Given the description of an element on the screen output the (x, y) to click on. 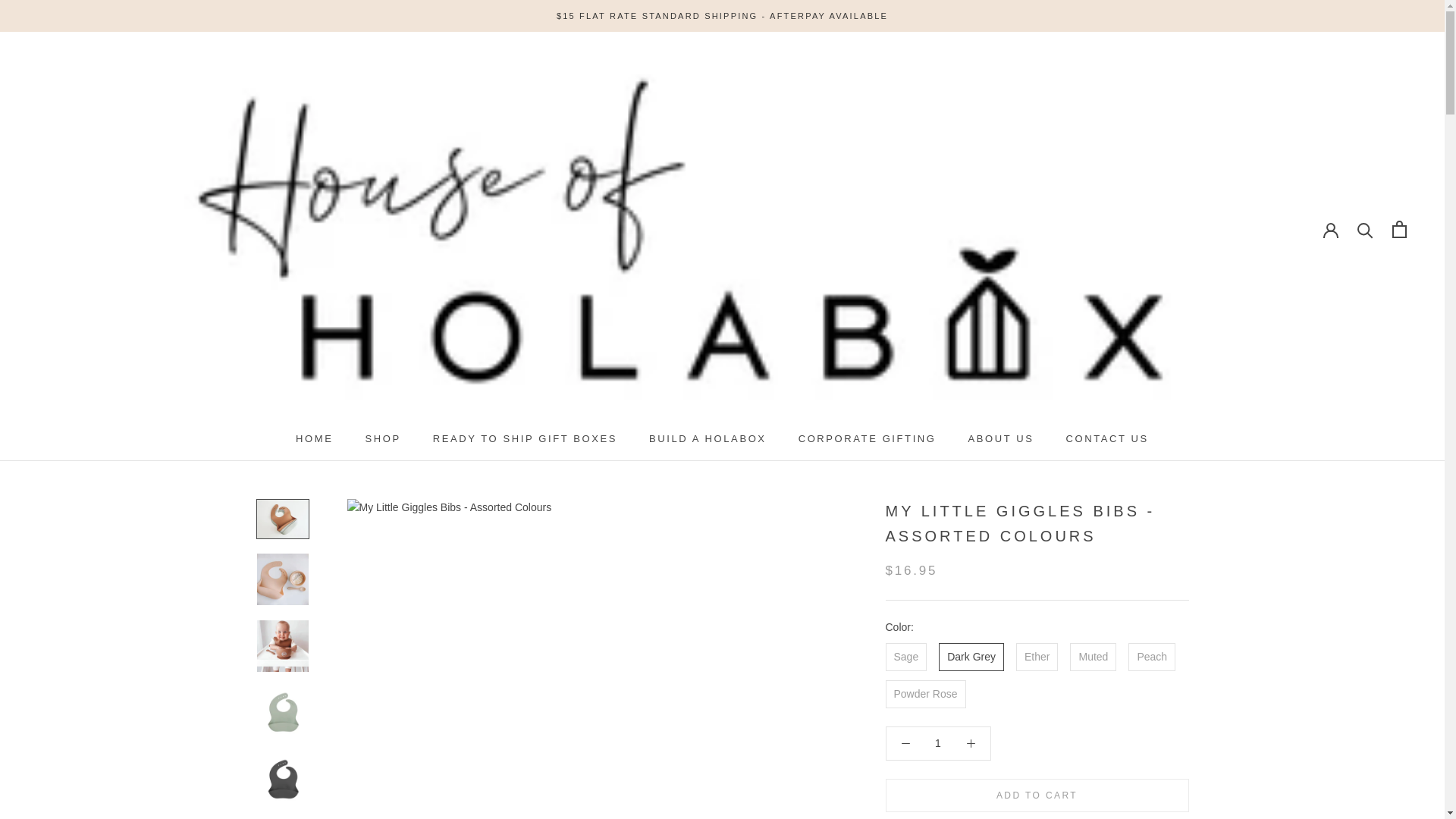
1 (938, 743)
